Given the description of an element on the screen output the (x, y) to click on. 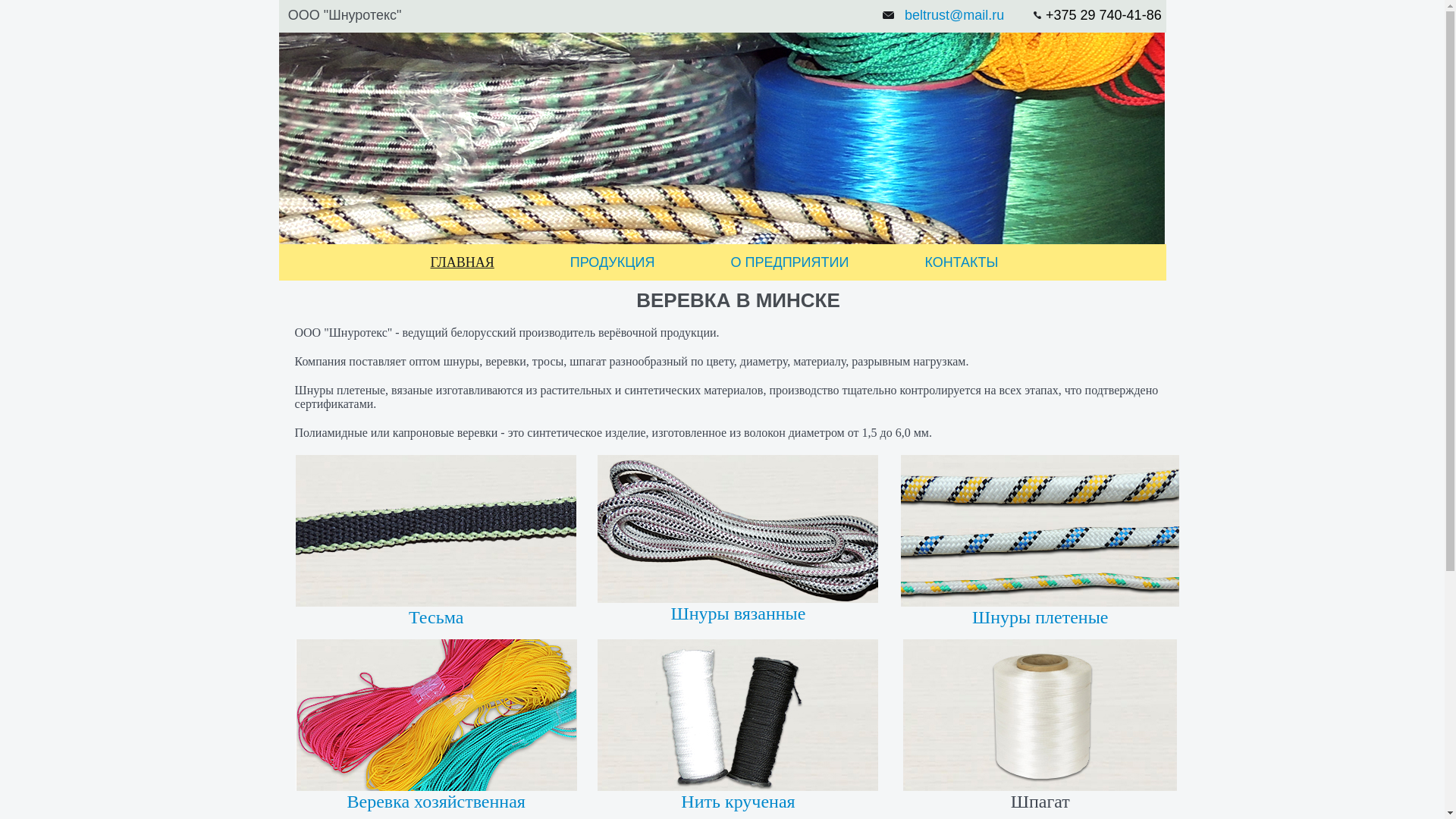
+375 29 740-41-86 Element type: text (1103, 14)
beltrust@mail.ru Element type: text (954, 14)
